Given the description of an element on the screen output the (x, y) to click on. 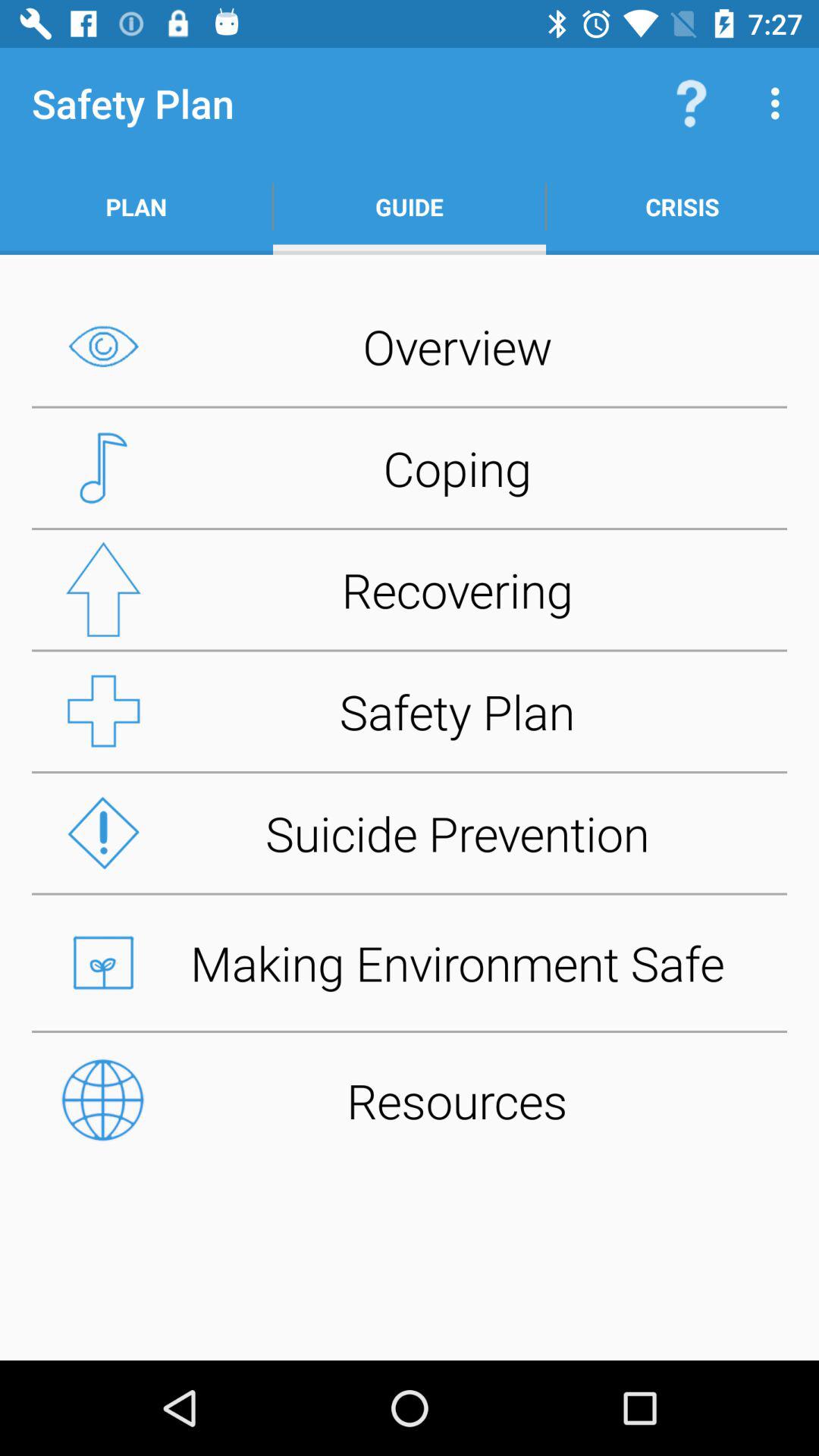
jump to the coping icon (409, 467)
